Given the description of an element on the screen output the (x, y) to click on. 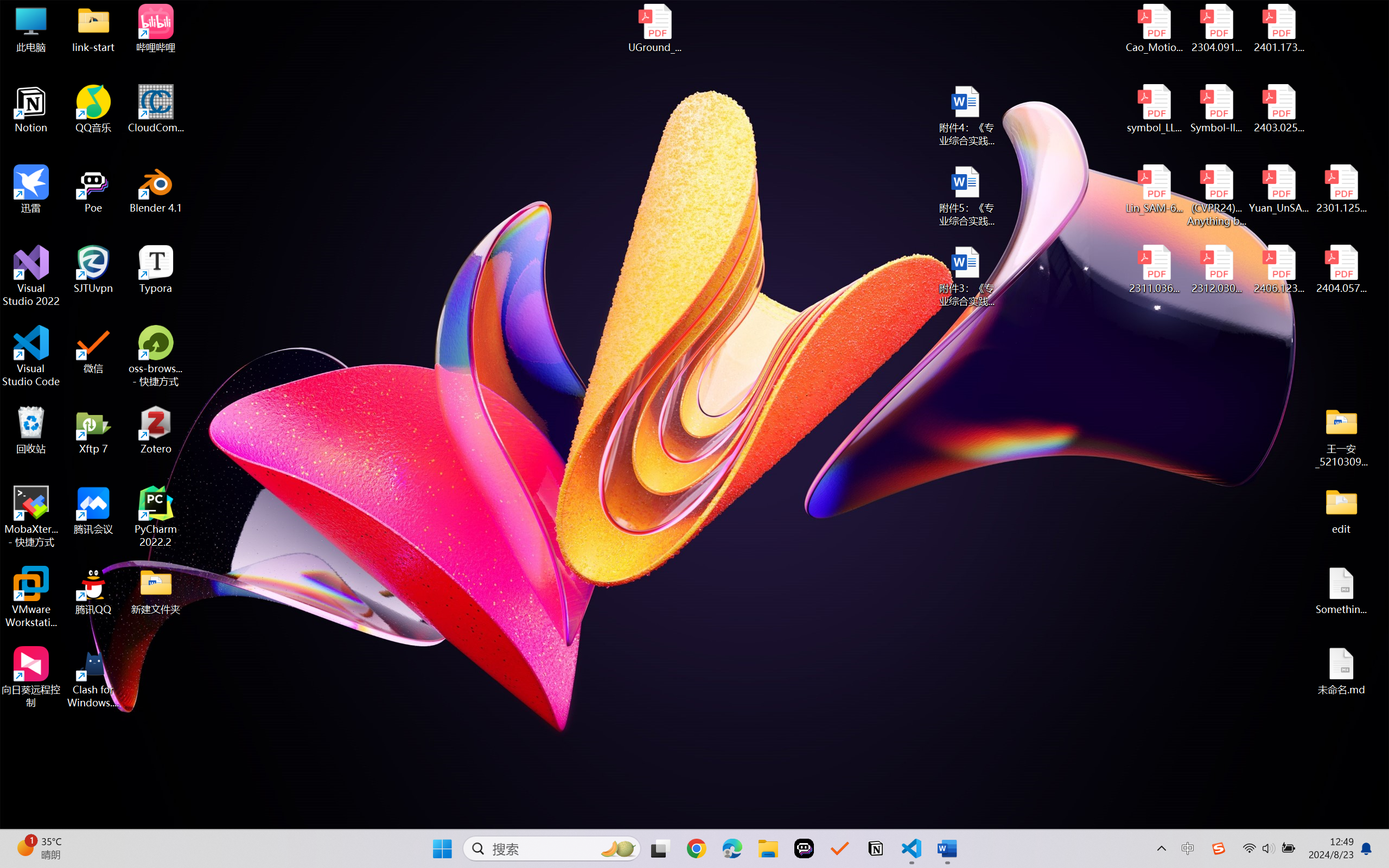
UGround_paper.pdf (654, 28)
Symbol-llm-v2.pdf (1216, 109)
PyCharm 2022.2 (156, 516)
2301.12597v3.pdf (1340, 189)
VMware Workstation Pro (31, 597)
Blender 4.1 (156, 189)
symbol_LLM.pdf (1154, 109)
